Given the description of an element on the screen output the (x, y) to click on. 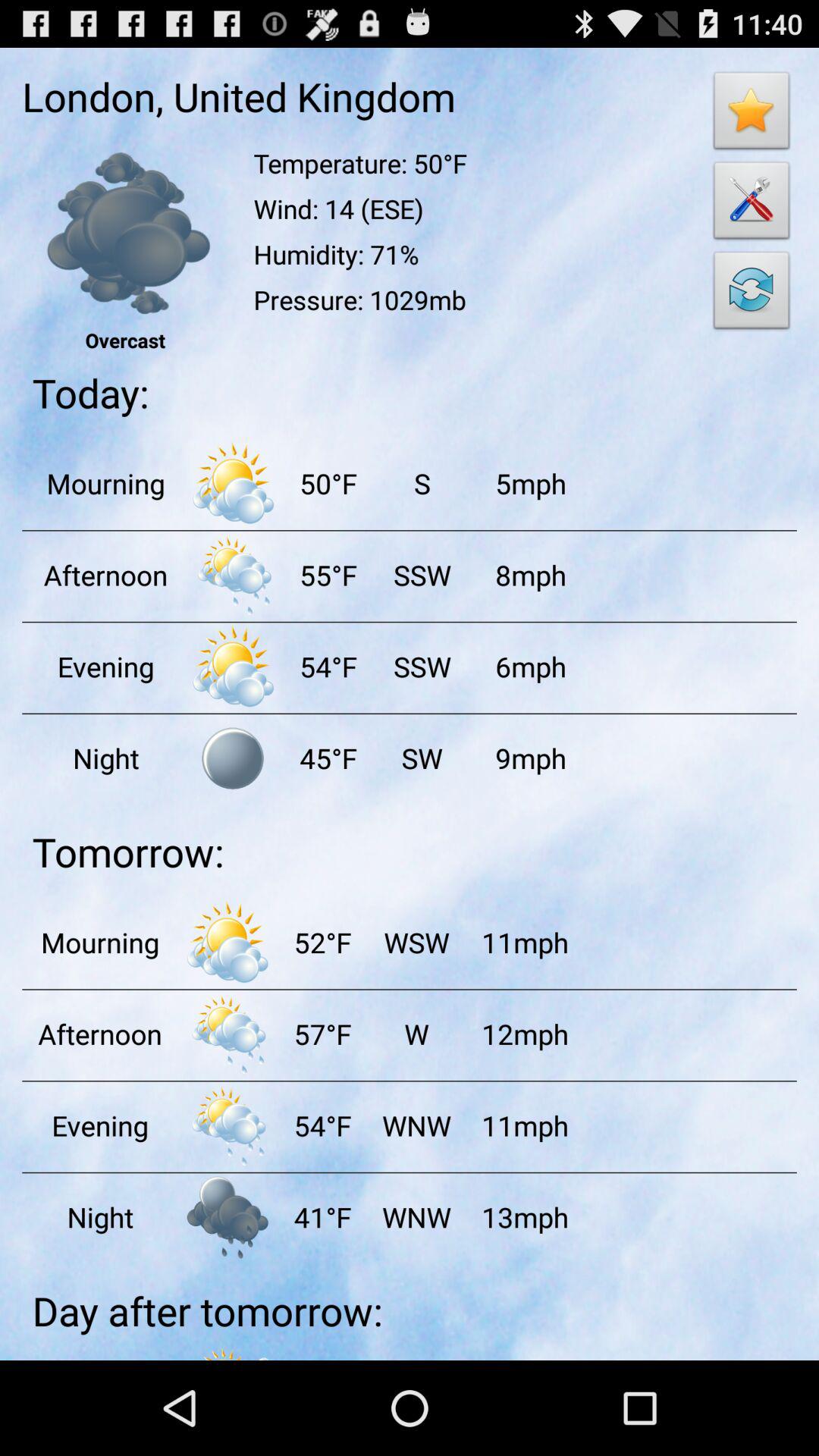
jump to the wsw item (416, 942)
